Given the description of an element on the screen output the (x, y) to click on. 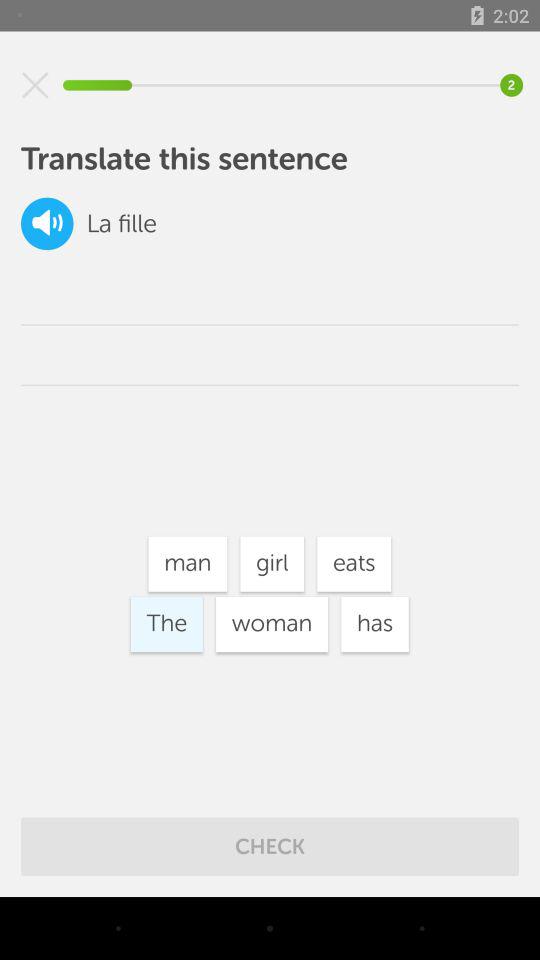
select the icon next to the the item (272, 624)
